Given the description of an element on the screen output the (x, y) to click on. 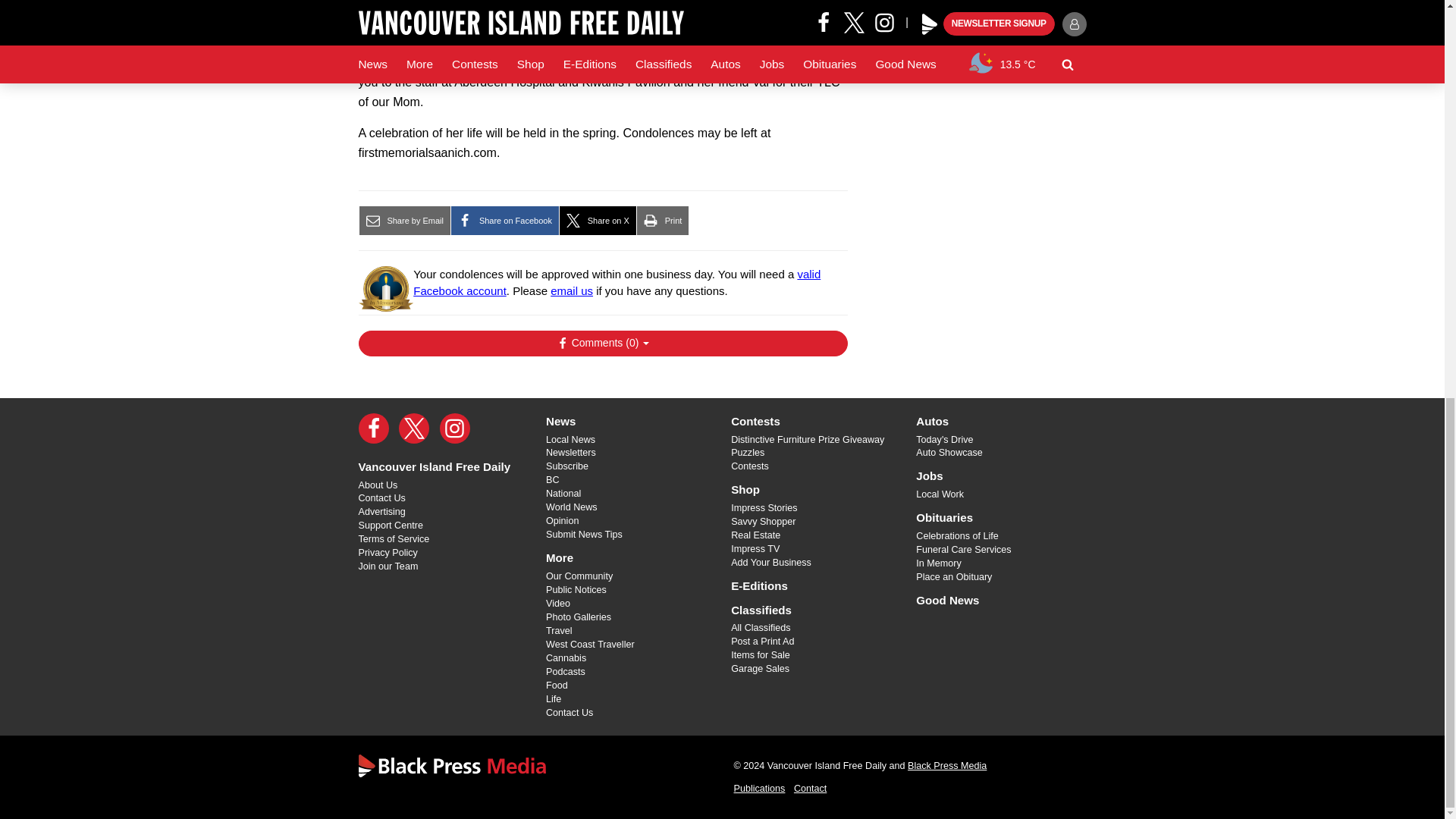
X (413, 428)
Show Comments (602, 343)
Facebook (373, 428)
Instagram (454, 428)
